Given the description of an element on the screen output the (x, y) to click on. 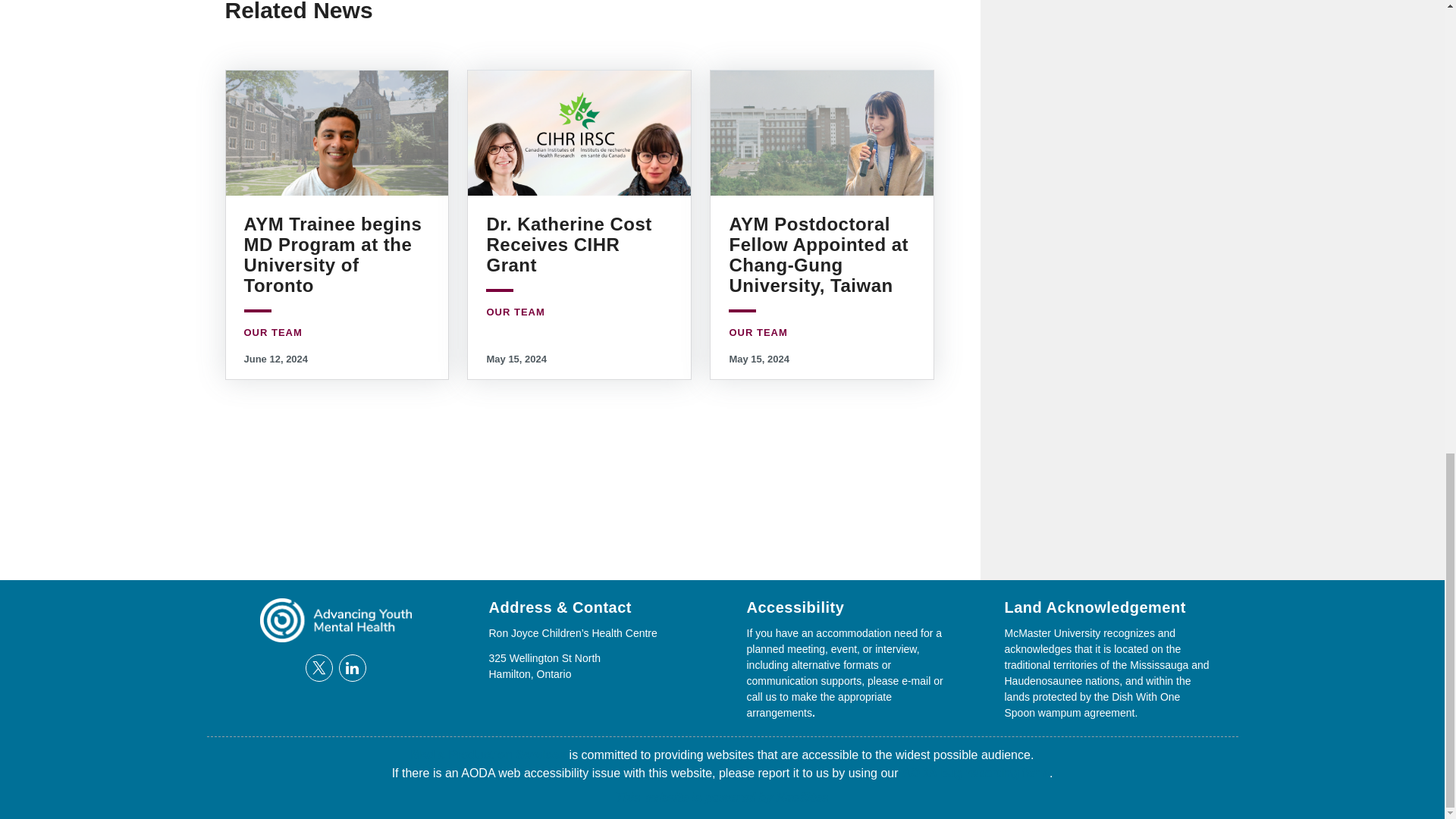
Dr. Katherine Cost Receives CIHR Grant (568, 244)
Twitter (317, 667)
LinkedIn (351, 667)
Media Production Services (488, 754)
This website is powered by MacSites (721, 797)
AODA bug reporting form (975, 772)
AYM Trainee begins MD Program at the University of Toronto (333, 254)
